Given the description of an element on the screen output the (x, y) to click on. 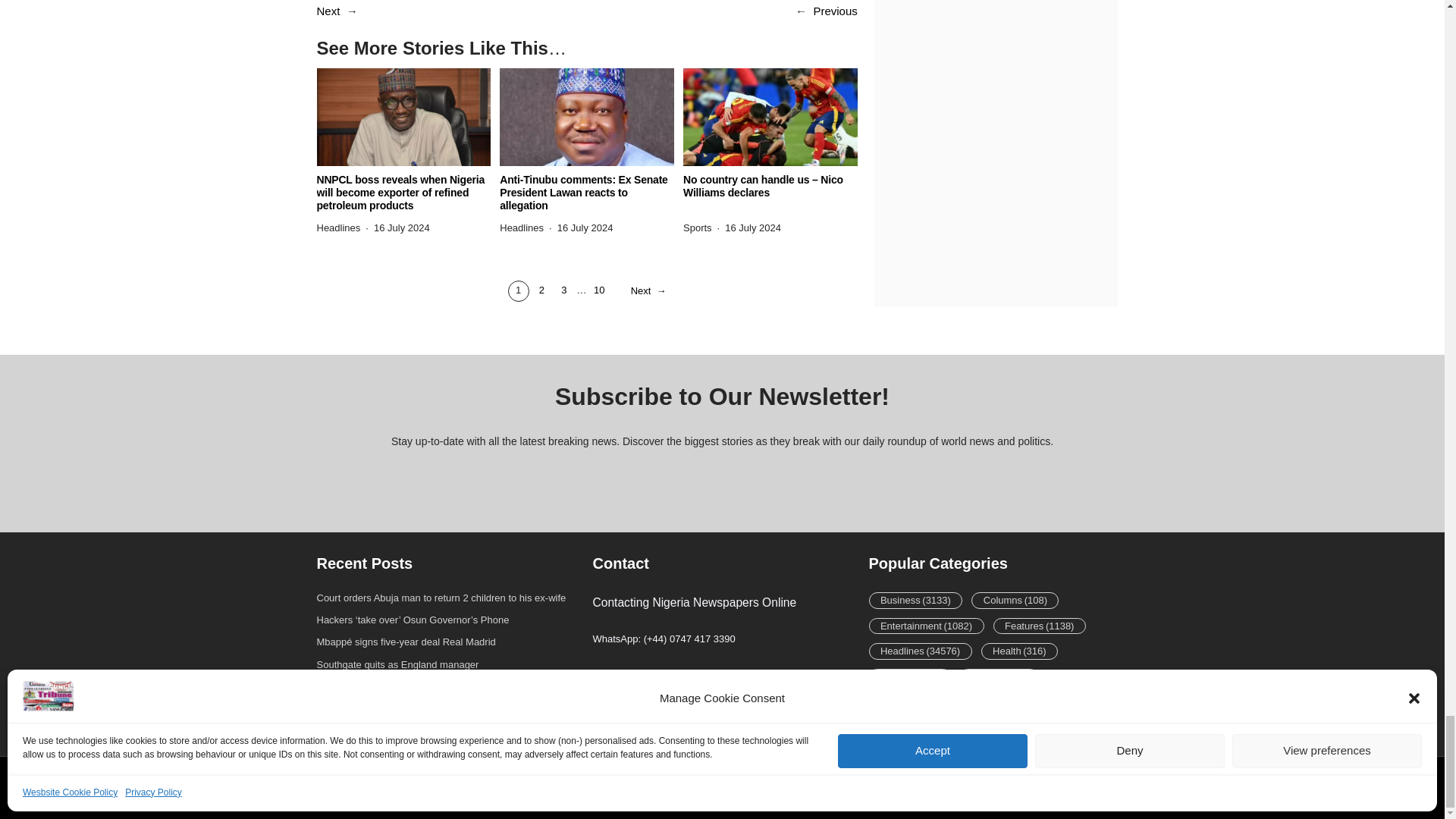
Headlines (339, 227)
Headlines (521, 227)
Next (328, 10)
Previous (834, 10)
